Given the description of an element on the screen output the (x, y) to click on. 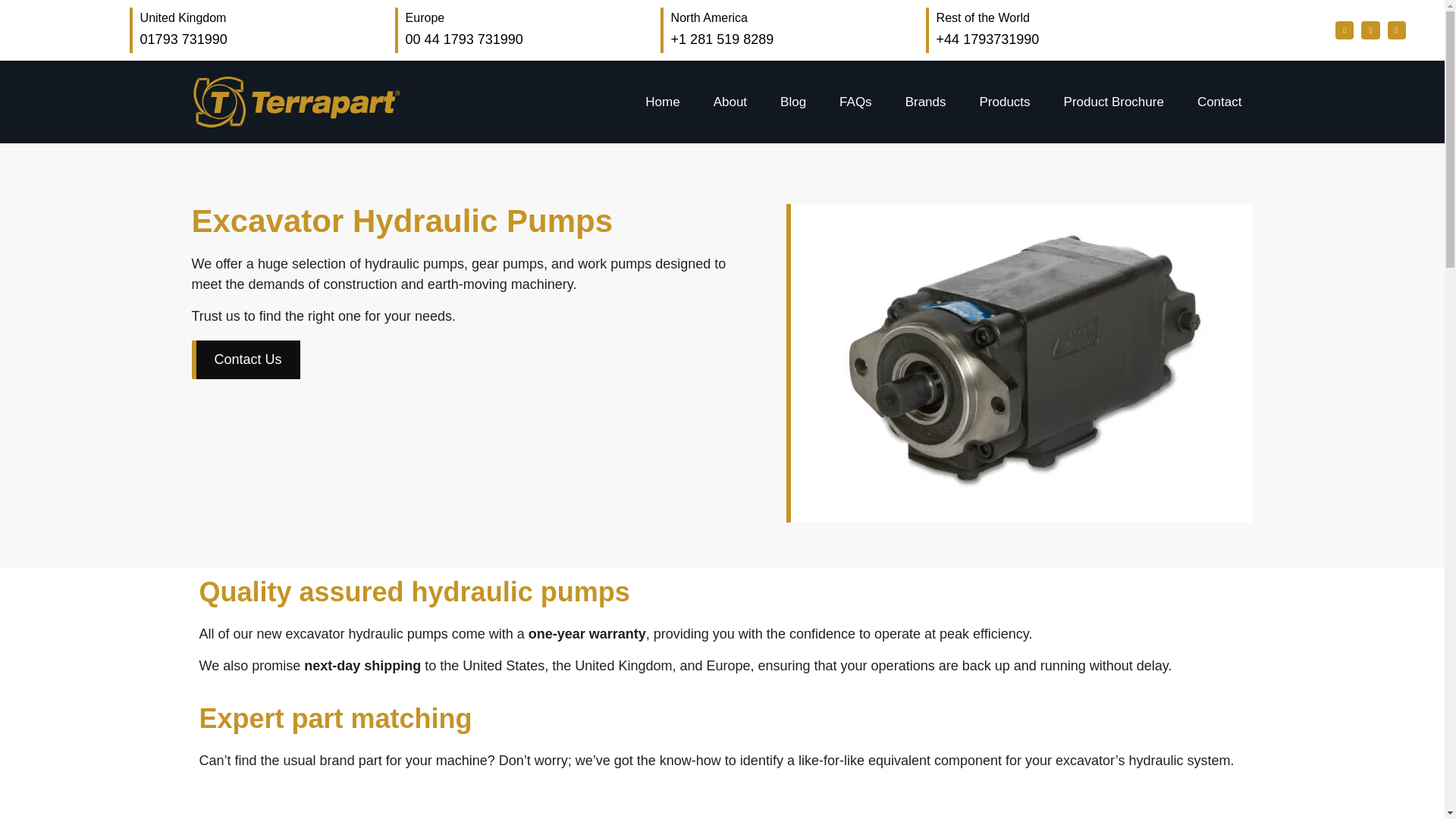
Home (521, 30)
FAQs (661, 101)
Blog (855, 101)
About (256, 30)
Brands (792, 101)
